Given the description of an element on the screen output the (x, y) to click on. 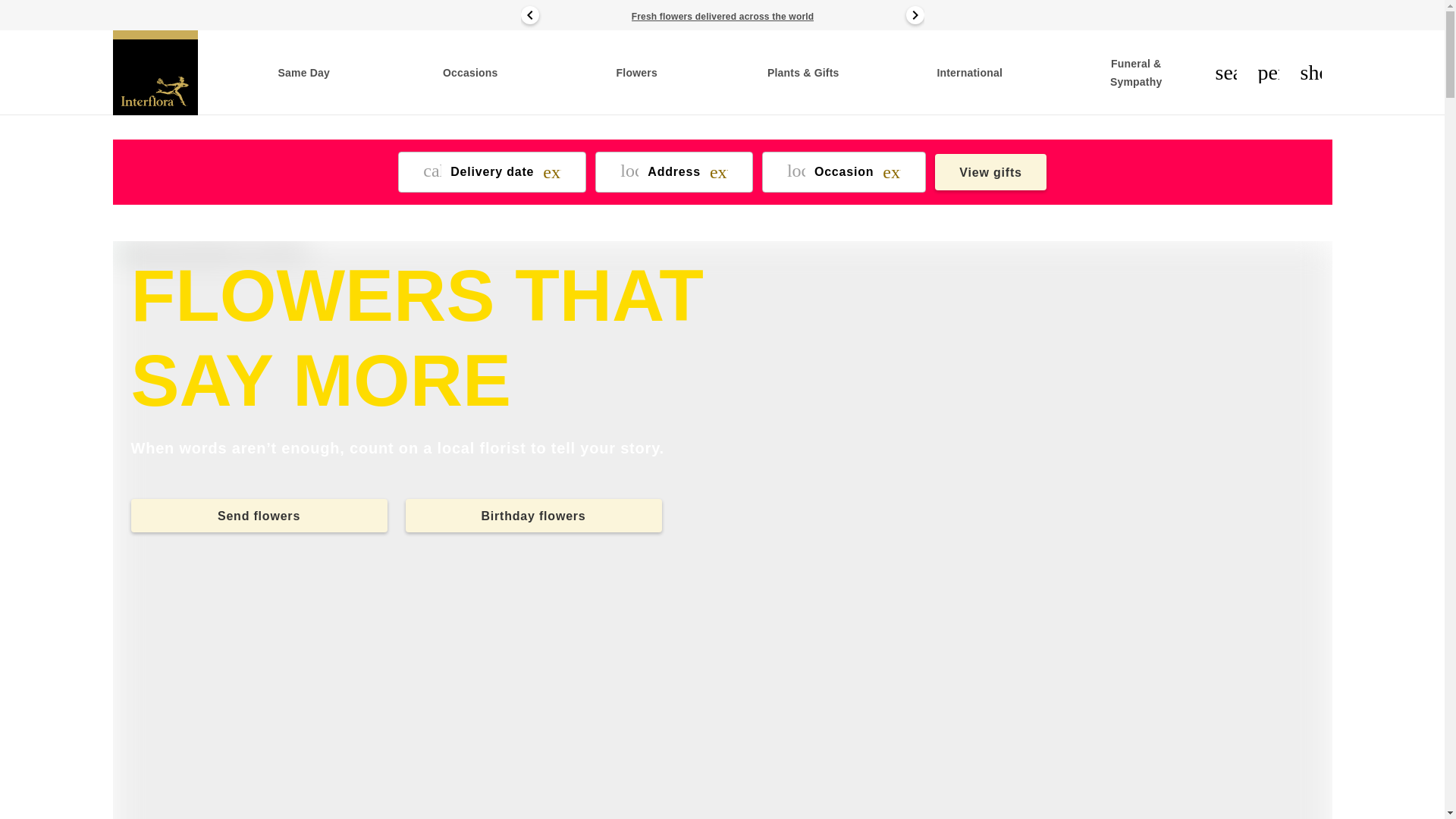
Fresh flowers delivered across the world (721, 16)
Same Day (304, 72)
